Given the description of an element on the screen output the (x, y) to click on. 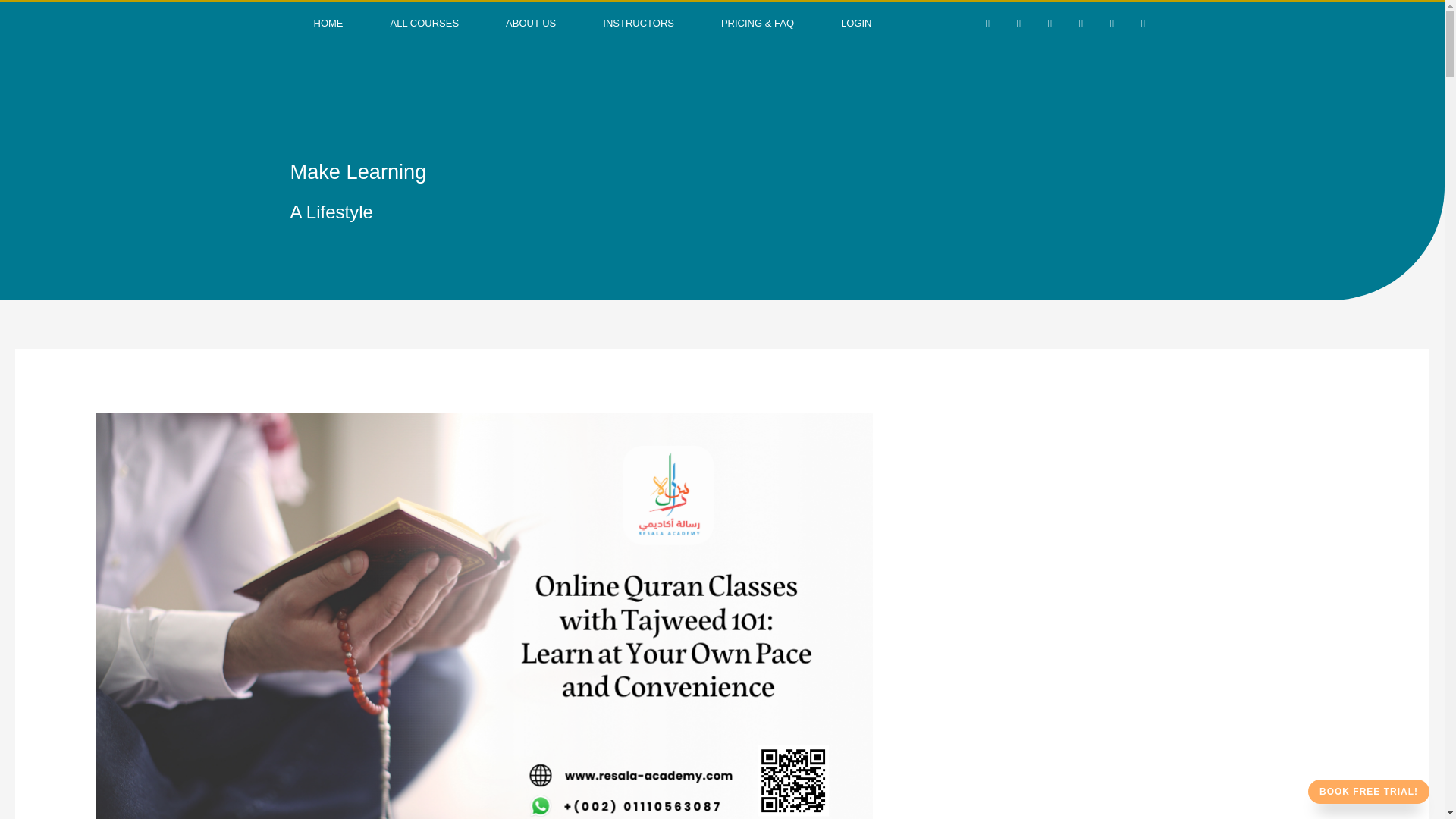
Pinterest (1080, 23)
INSTRUCTORS (638, 23)
Facebook-f (986, 23)
ABOUT US (530, 23)
HOME (327, 23)
Linkedin (1049, 23)
Instagram (1142, 23)
LOGIN (855, 23)
Youtube (1111, 23)
Twitter (1018, 23)
ALL COURSES (424, 23)
